Given the description of an element on the screen output the (x, y) to click on. 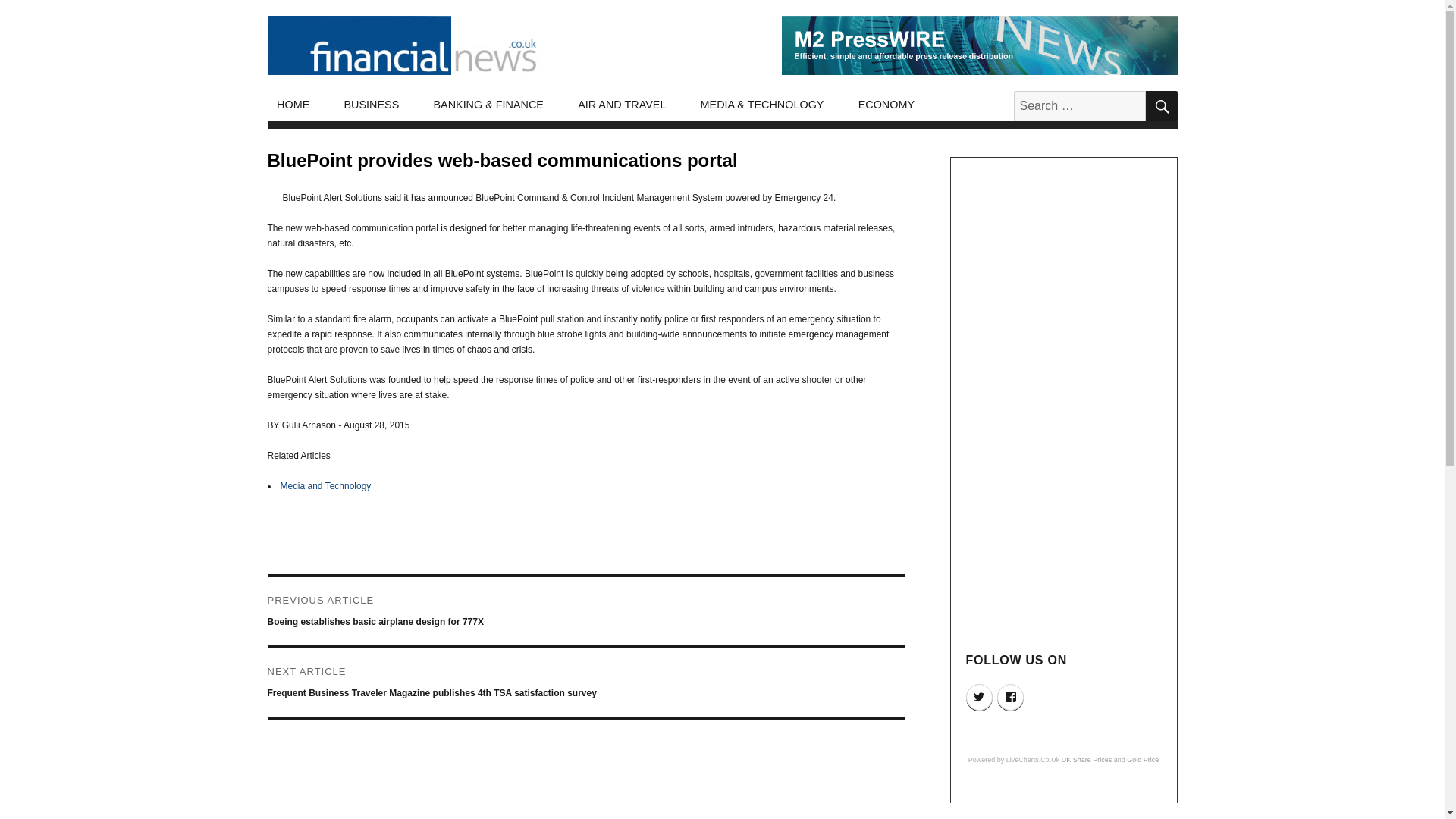
TWITTER (979, 696)
FACEBOOK (1010, 696)
UK Share Prices (1086, 759)
BUSINESS (371, 104)
Advertisement (1065, 804)
Advertisement (588, 801)
Media and Technology (326, 485)
HOME (292, 104)
